Given the description of an element on the screen output the (x, y) to click on. 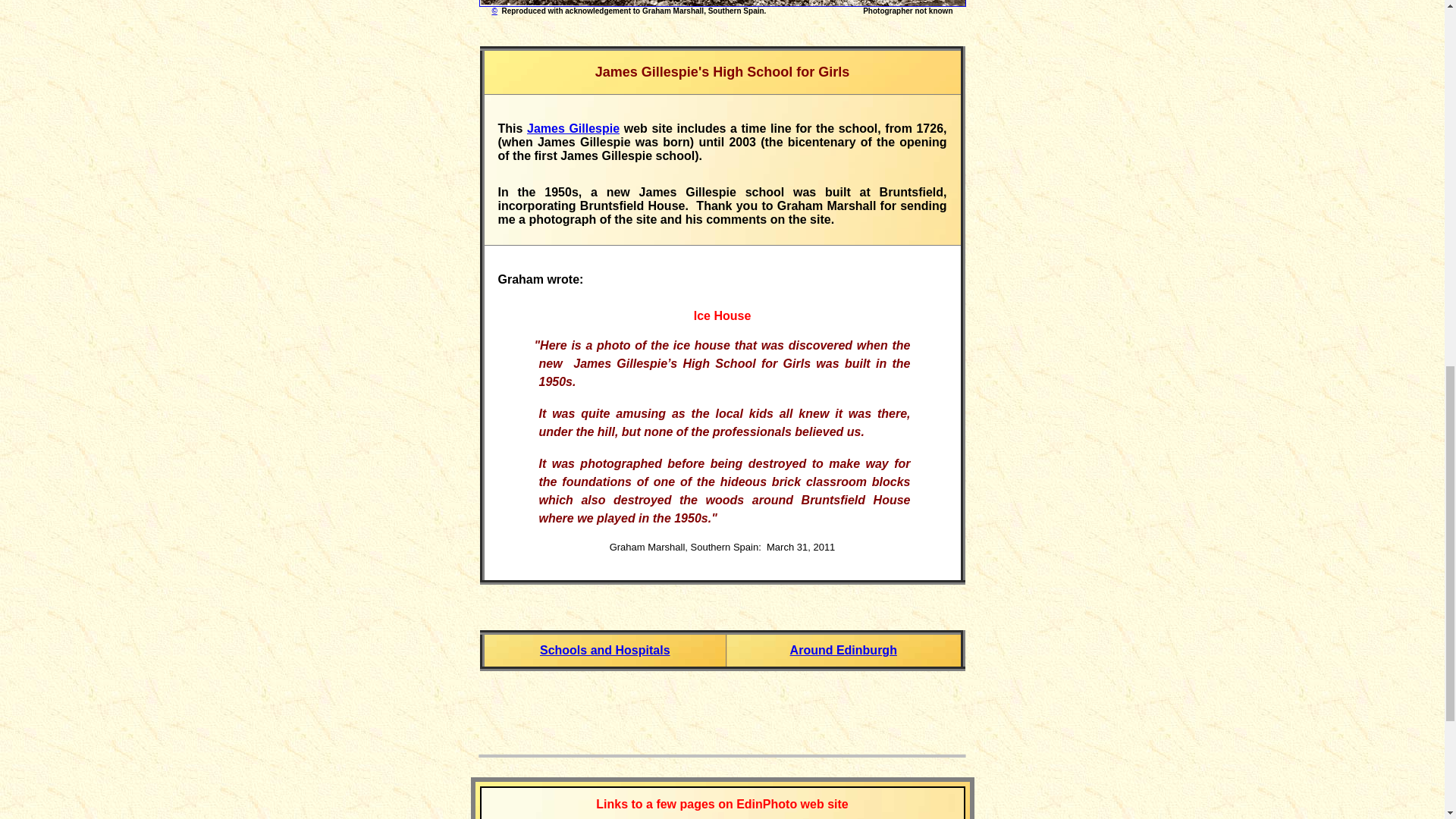
Schools and Hospitals (604, 649)
James Gillespie (573, 128)
Around Edinburgh (843, 649)
